Given the description of an element on the screen output the (x, y) to click on. 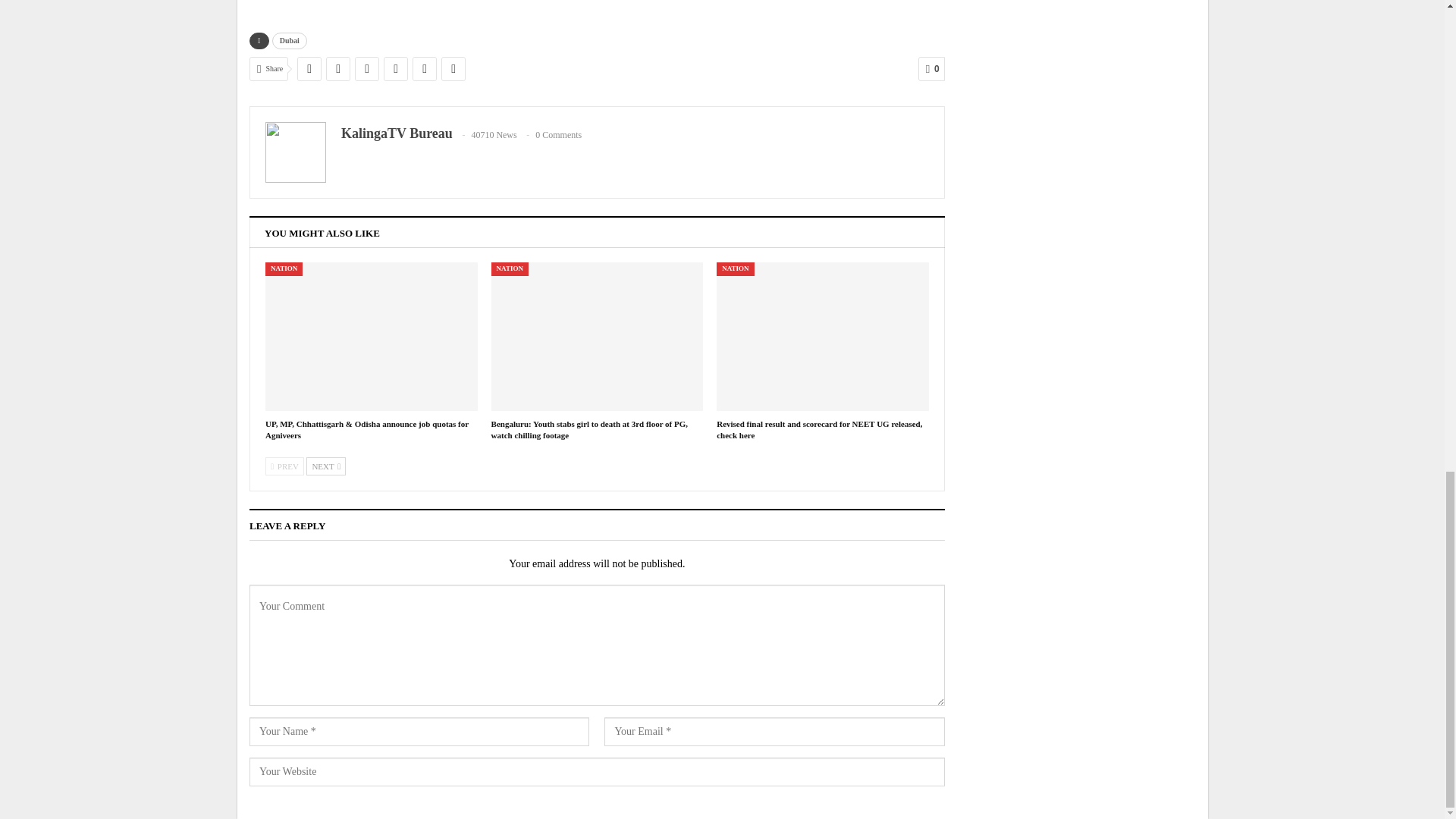
Dubai (289, 40)
Next (325, 466)
Previous (284, 466)
0 (931, 68)
